Given the description of an element on the screen output the (x, y) to click on. 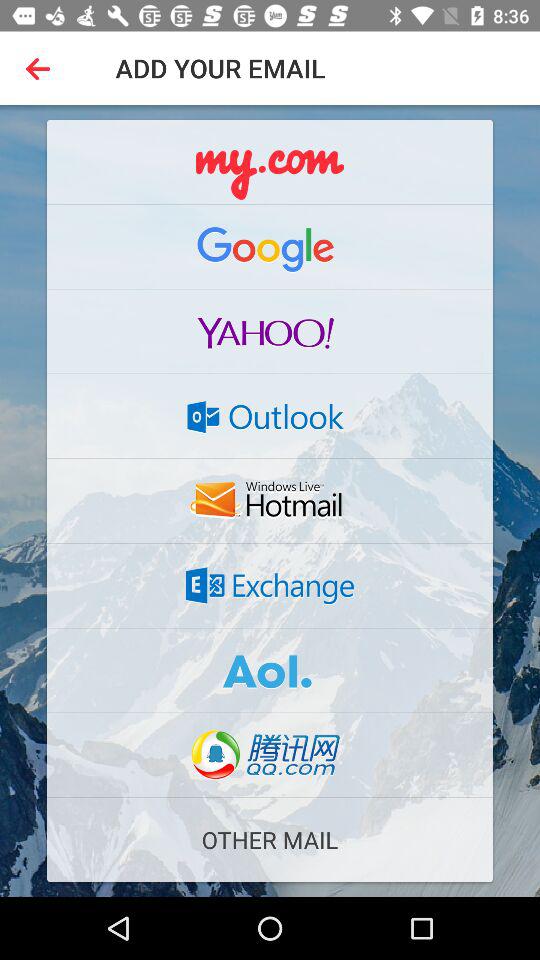
open the item above other mail item (269, 755)
